Given the description of an element on the screen output the (x, y) to click on. 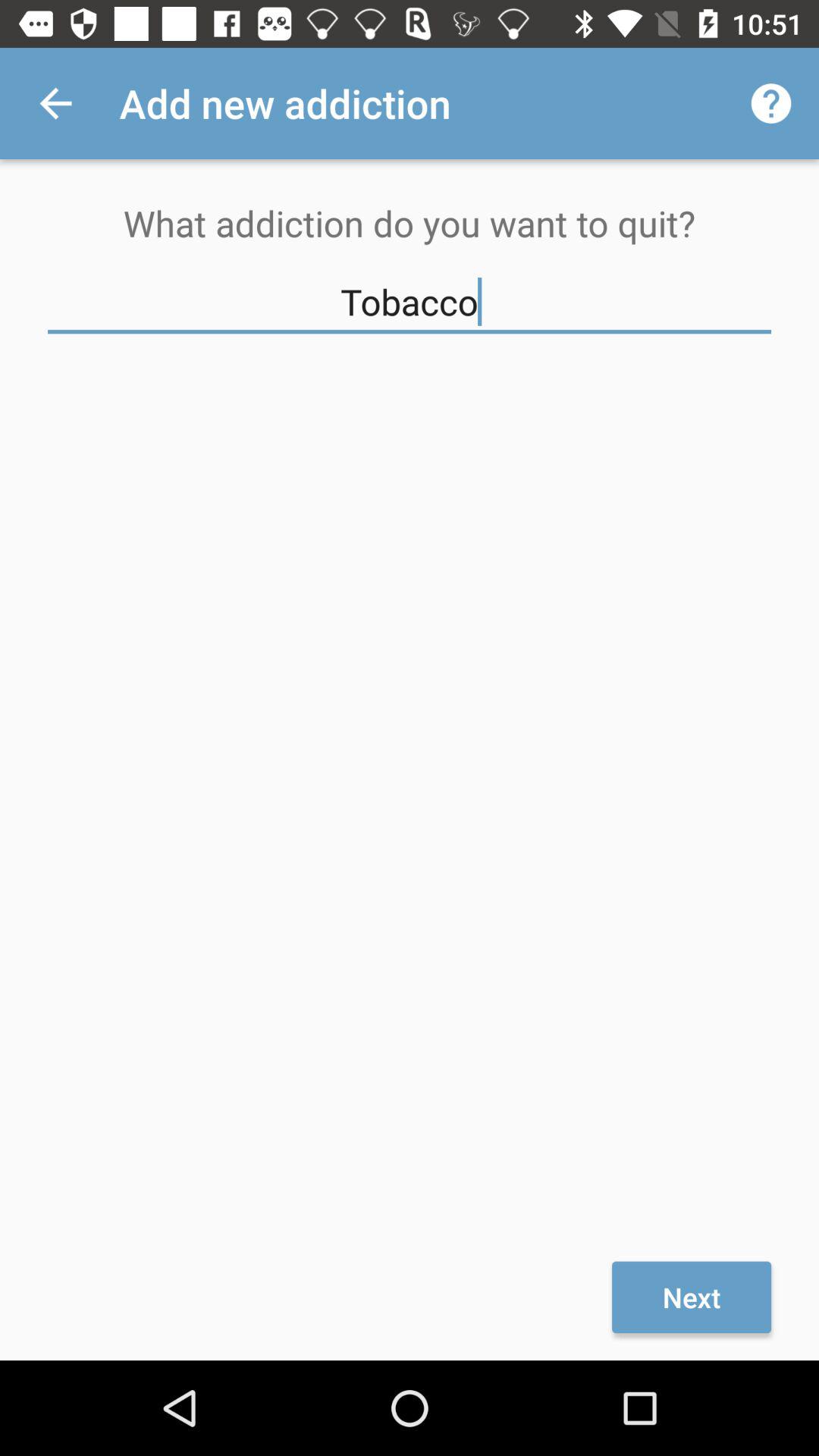
press tobacco item (409, 302)
